Given the description of an element on the screen output the (x, y) to click on. 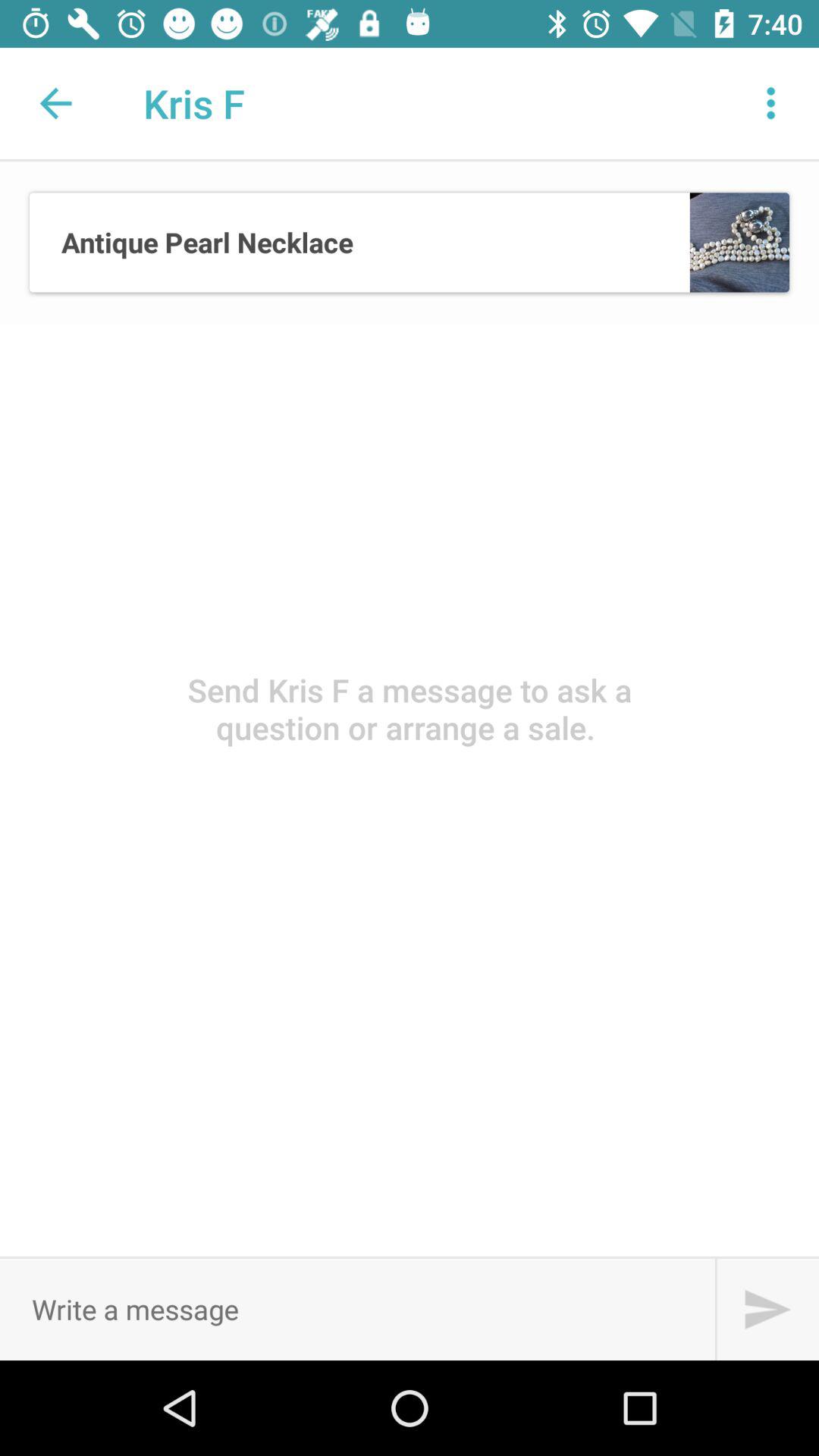
shows type message (357, 1308)
